Given the description of an element on the screen output the (x, y) to click on. 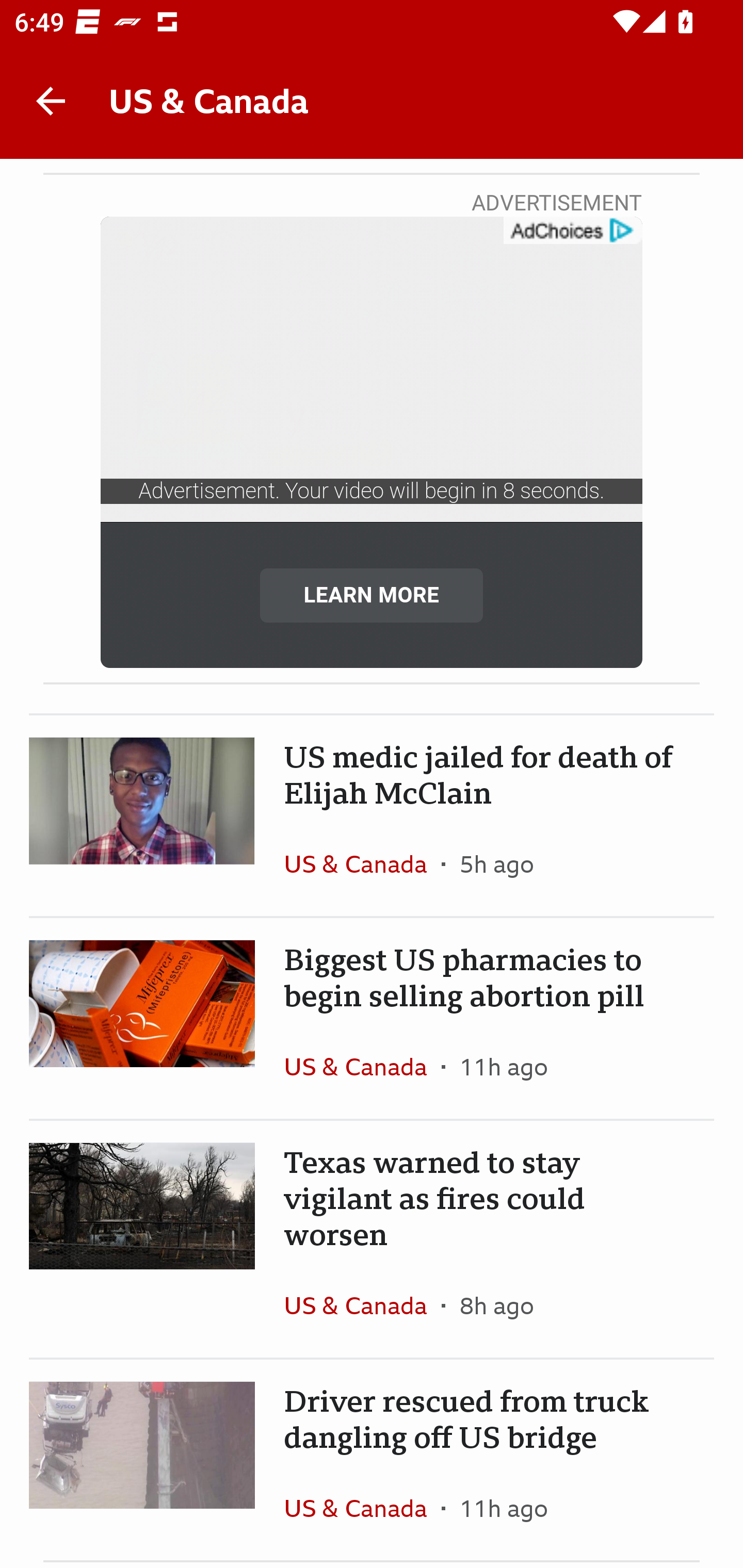
Back (50, 101)
get?name=admarker-full-tl (571, 231)
LEARN MORE (371, 594)
US & Canada In the section US & Canada (362, 863)
US & Canada In the section US & Canada (362, 1065)
US & Canada In the section US & Canada (362, 1304)
US & Canada In the section US & Canada (362, 1508)
